Given the description of an element on the screen output the (x, y) to click on. 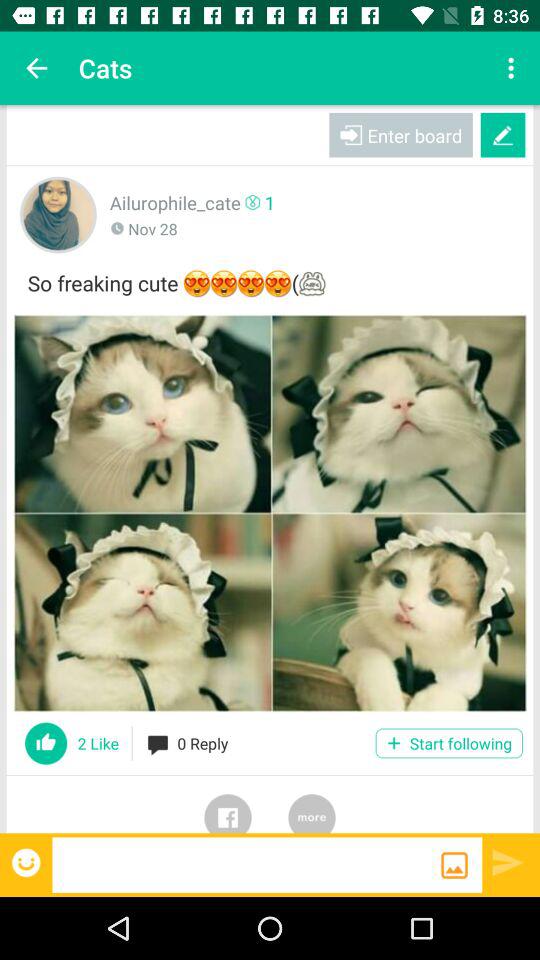
expand social media sharing icons (312, 804)
